Given the description of an element on the screen output the (x, y) to click on. 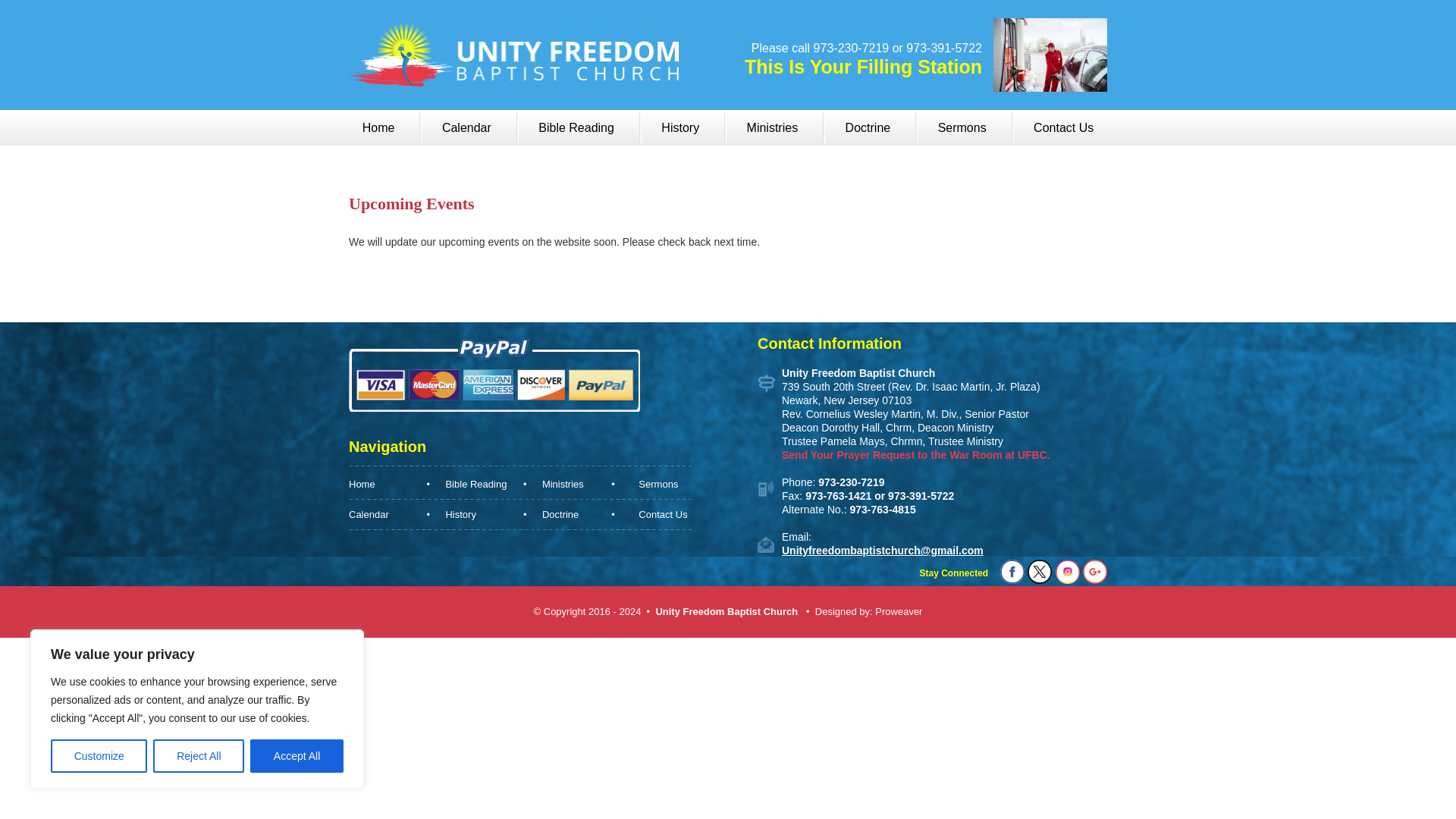
Contact Us (1063, 127)
Sermons (961, 127)
History (679, 127)
Home (378, 127)
Calendar (466, 127)
This Is Your Filling Station (862, 74)
Doctrine (868, 127)
Ministries (773, 127)
Accept All (296, 756)
Bible Reading (576, 127)
